Given the description of an element on the screen output the (x, y) to click on. 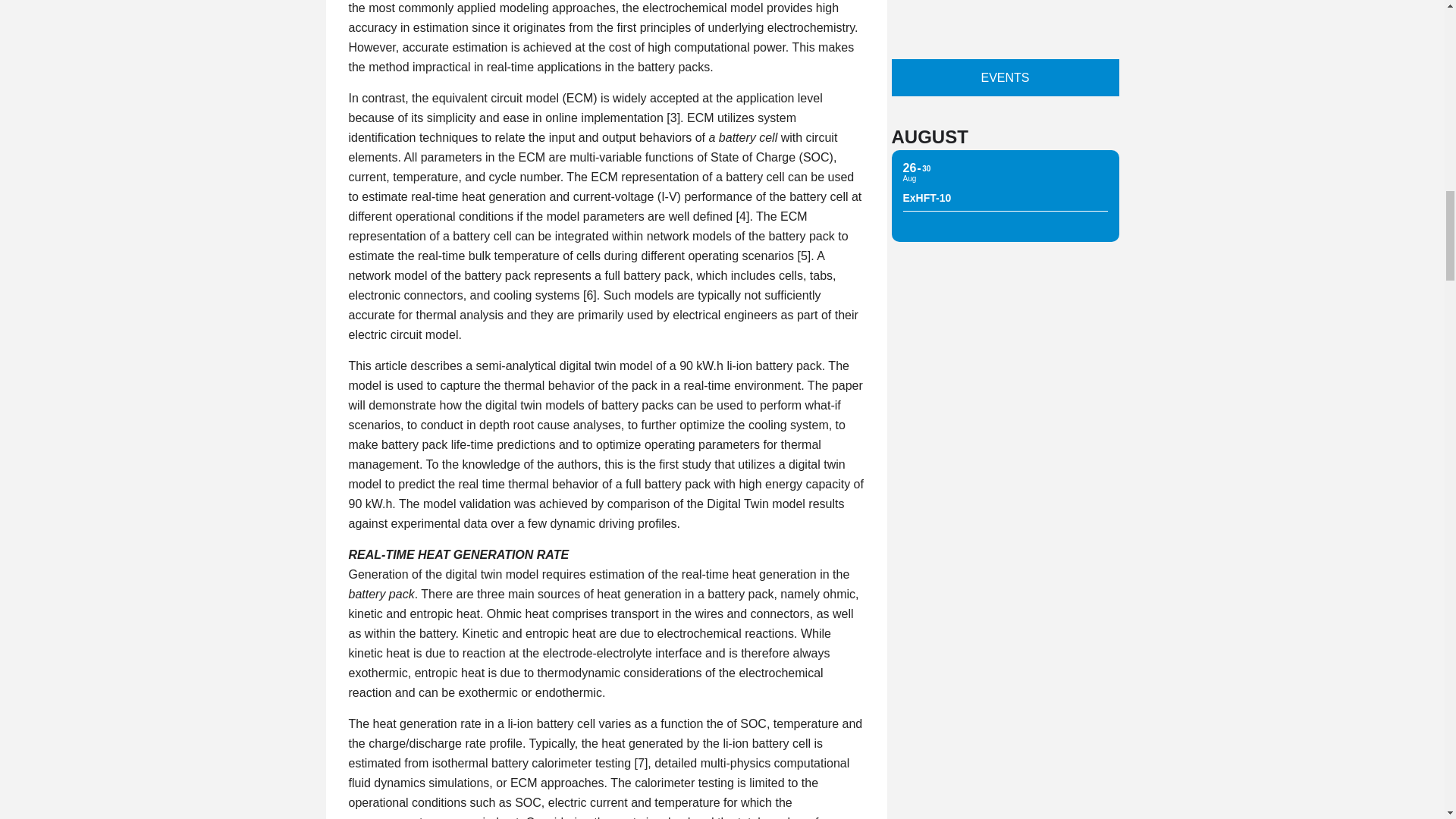
3rd party ad content (1005, 14)
